Given the description of an element on the screen output the (x, y) to click on. 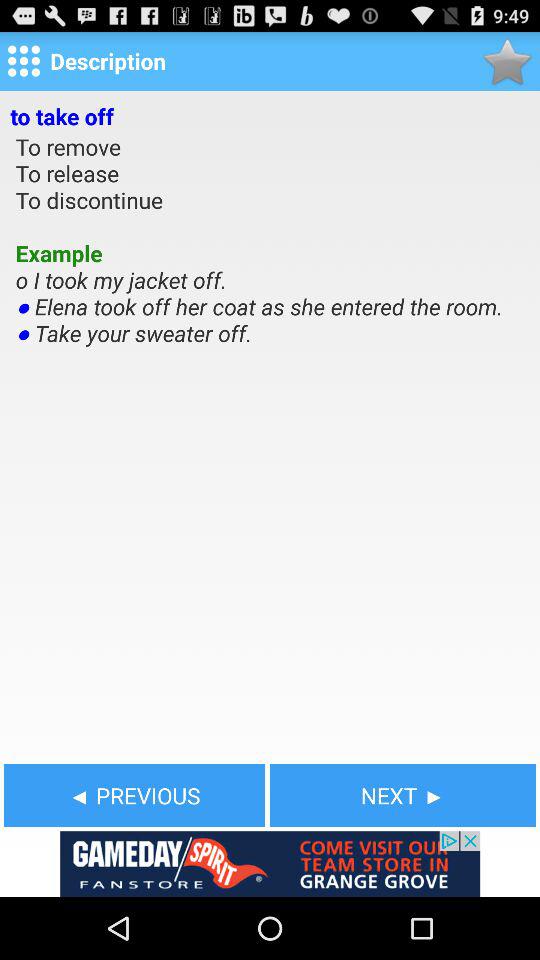
advertisement for gameday spirit fanstore (270, 864)
